Given the description of an element on the screen output the (x, y) to click on. 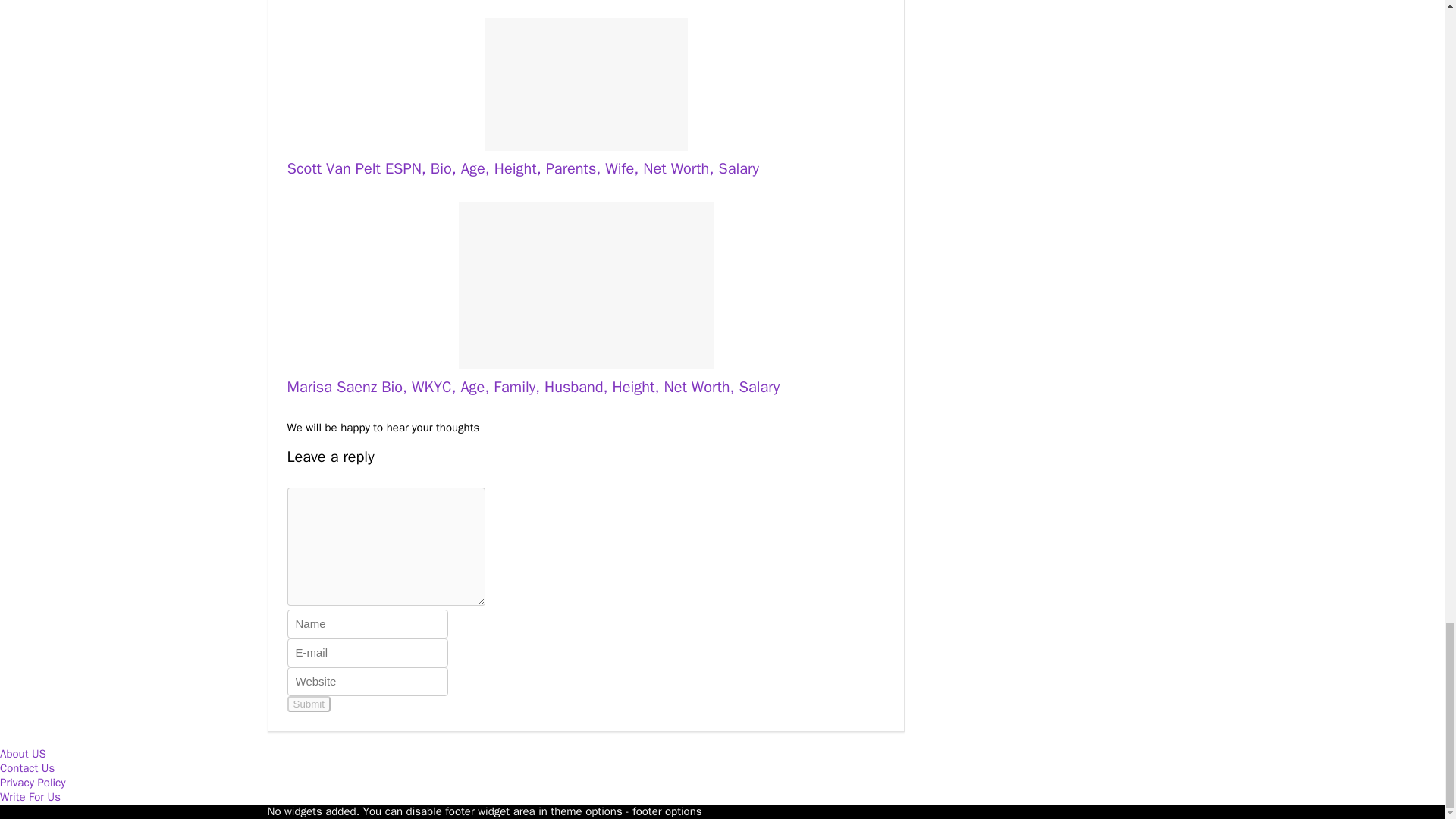
Submit (308, 703)
Submit (308, 703)
